Given the description of an element on the screen output the (x, y) to click on. 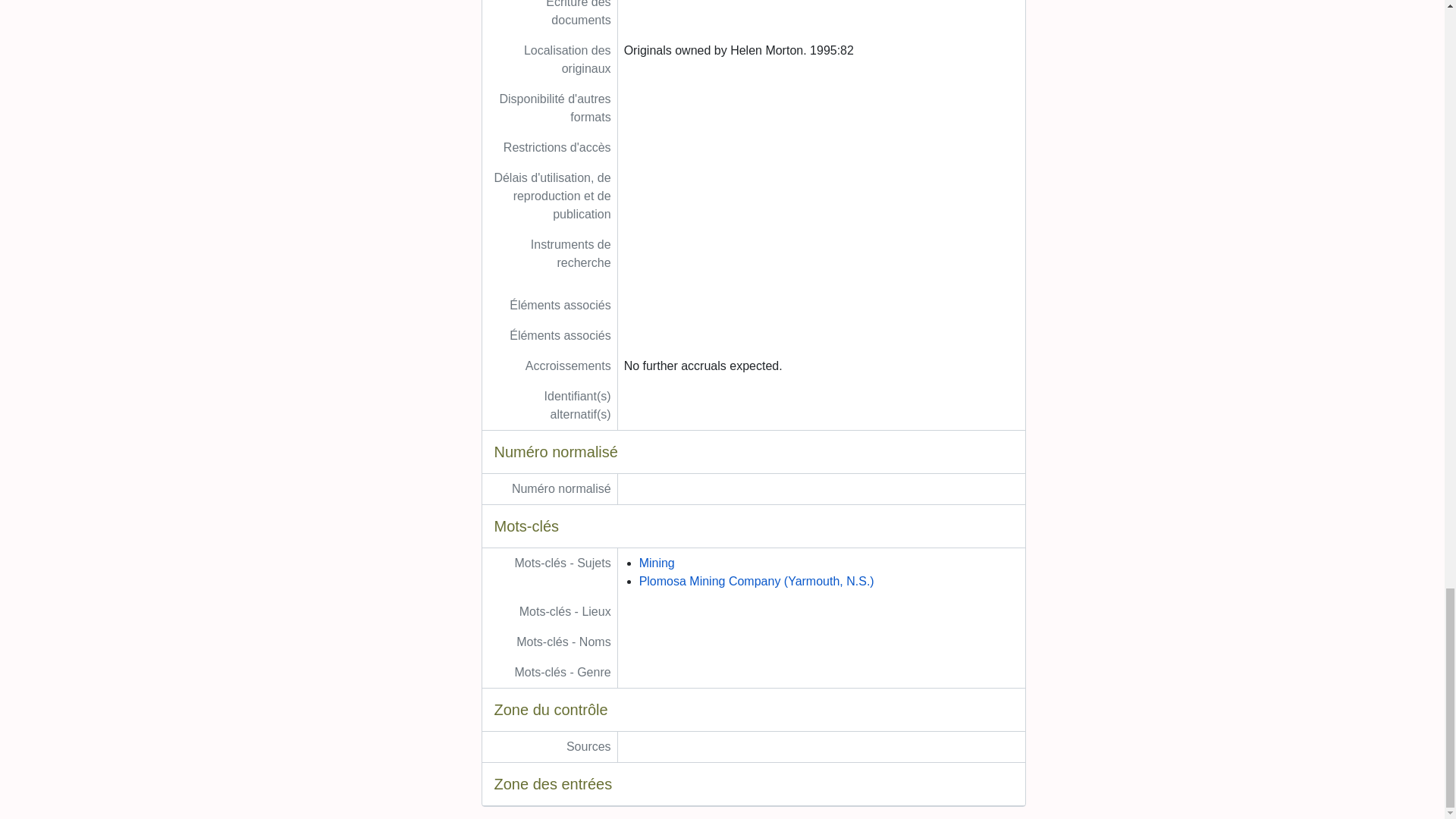
Mining (657, 562)
